Given the description of an element on the screen output the (x, y) to click on. 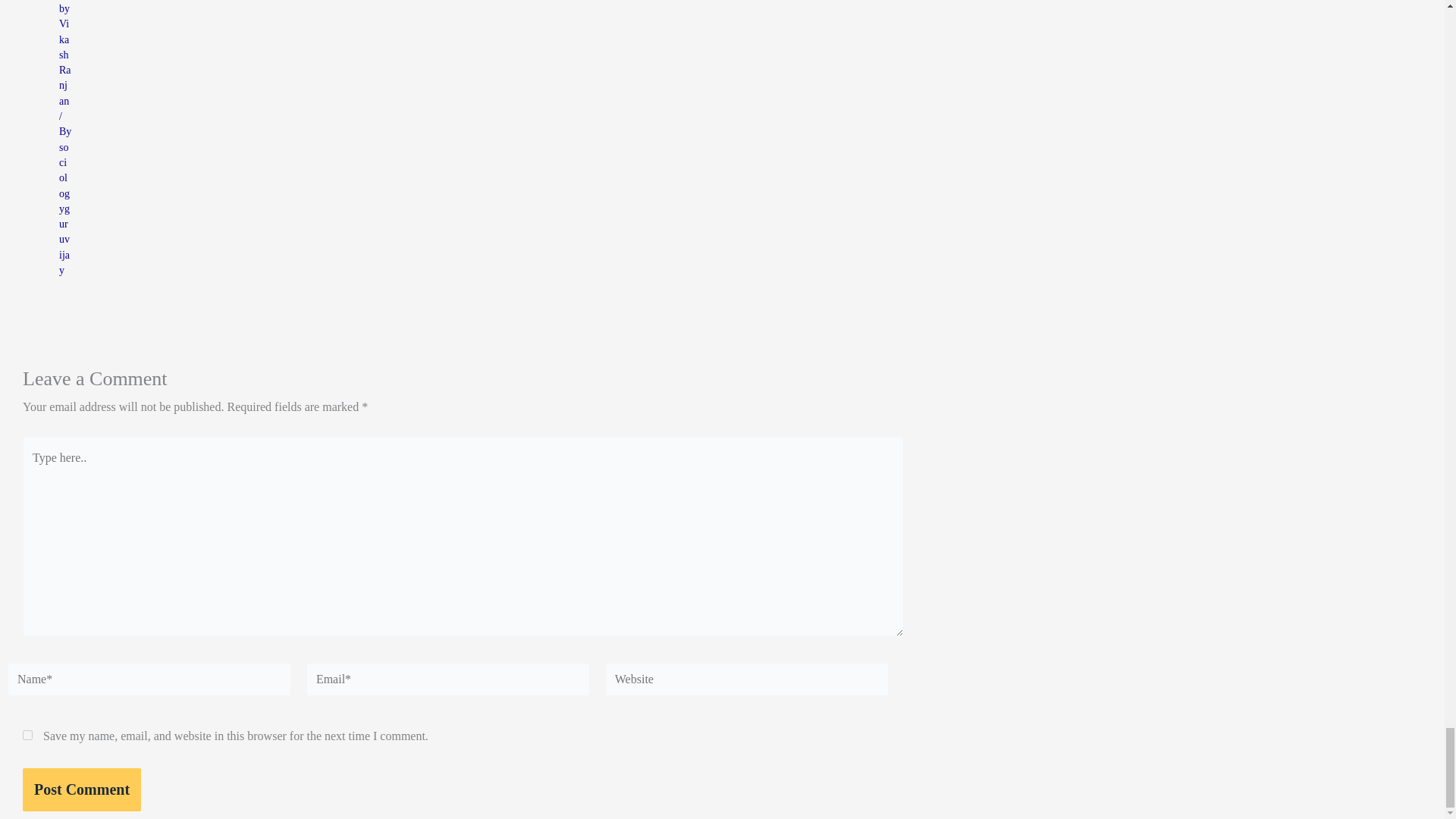
Post Comment (82, 789)
yes (27, 735)
Post Comment (82, 789)
